Given the description of an element on the screen output the (x, y) to click on. 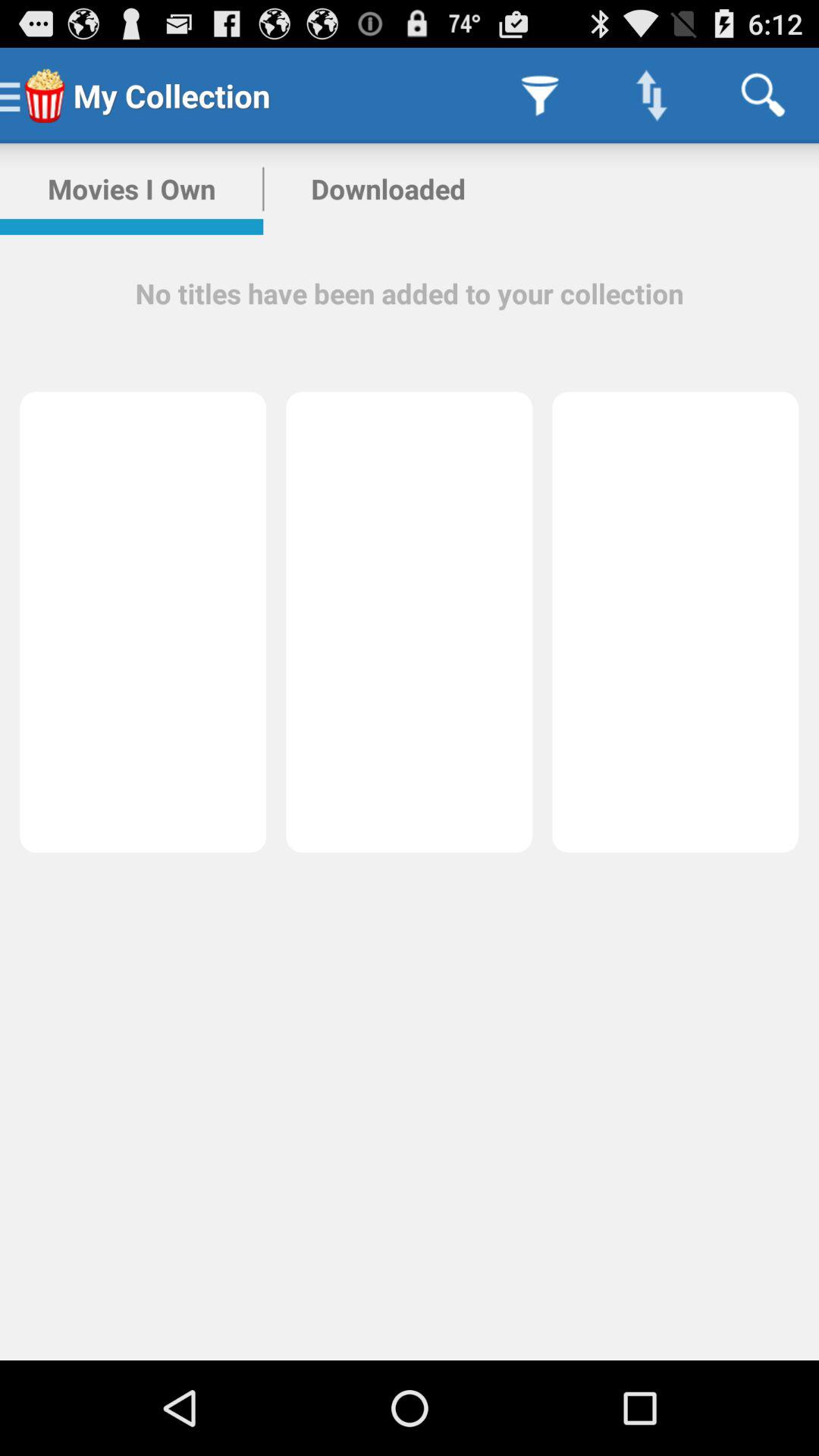
tap item above the no titles have item (388, 188)
